Given the description of an element on the screen output the (x, y) to click on. 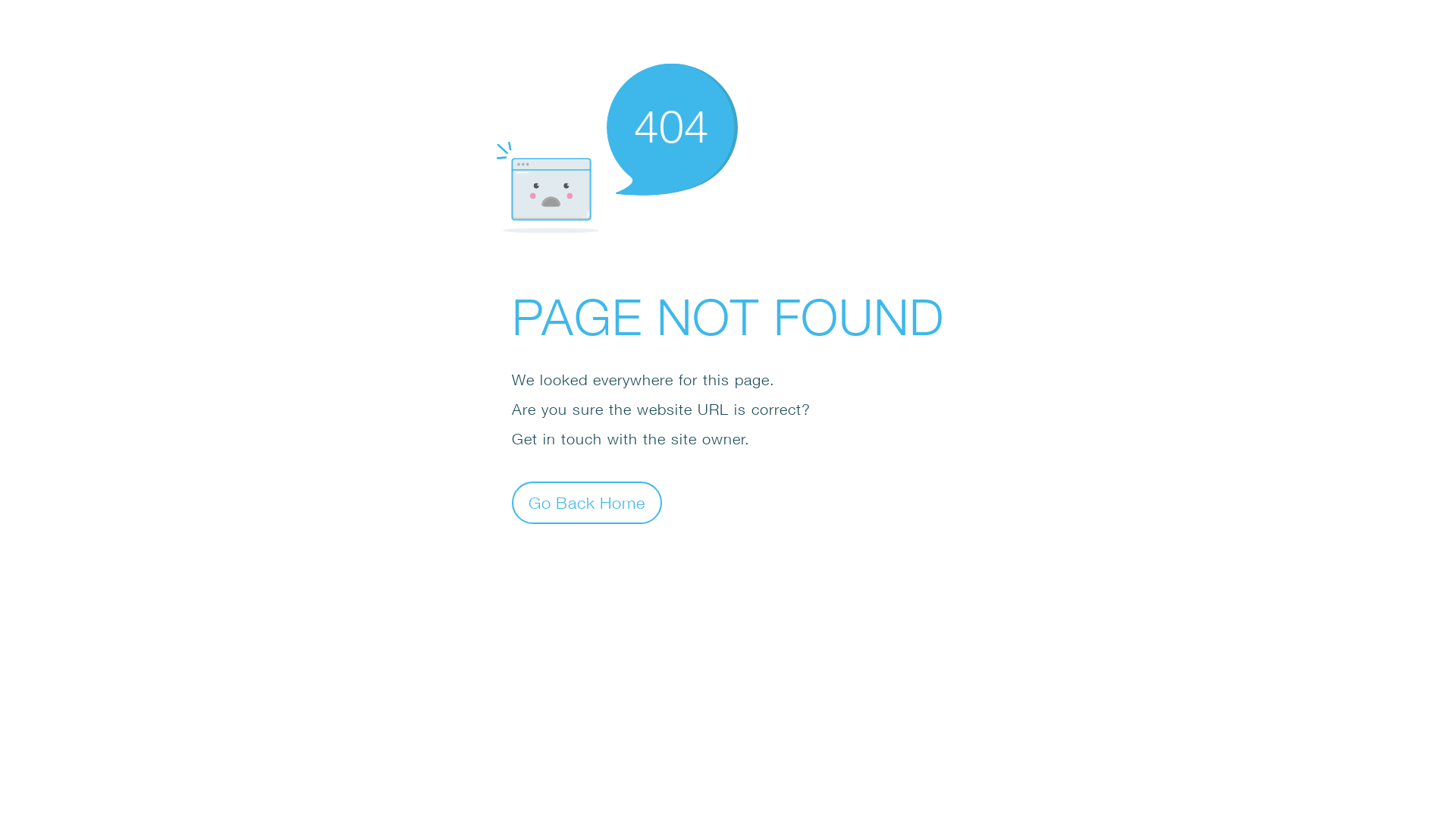
Go Back Home Element type: text (586, 502)
